Given the description of an element on the screen output the (x, y) to click on. 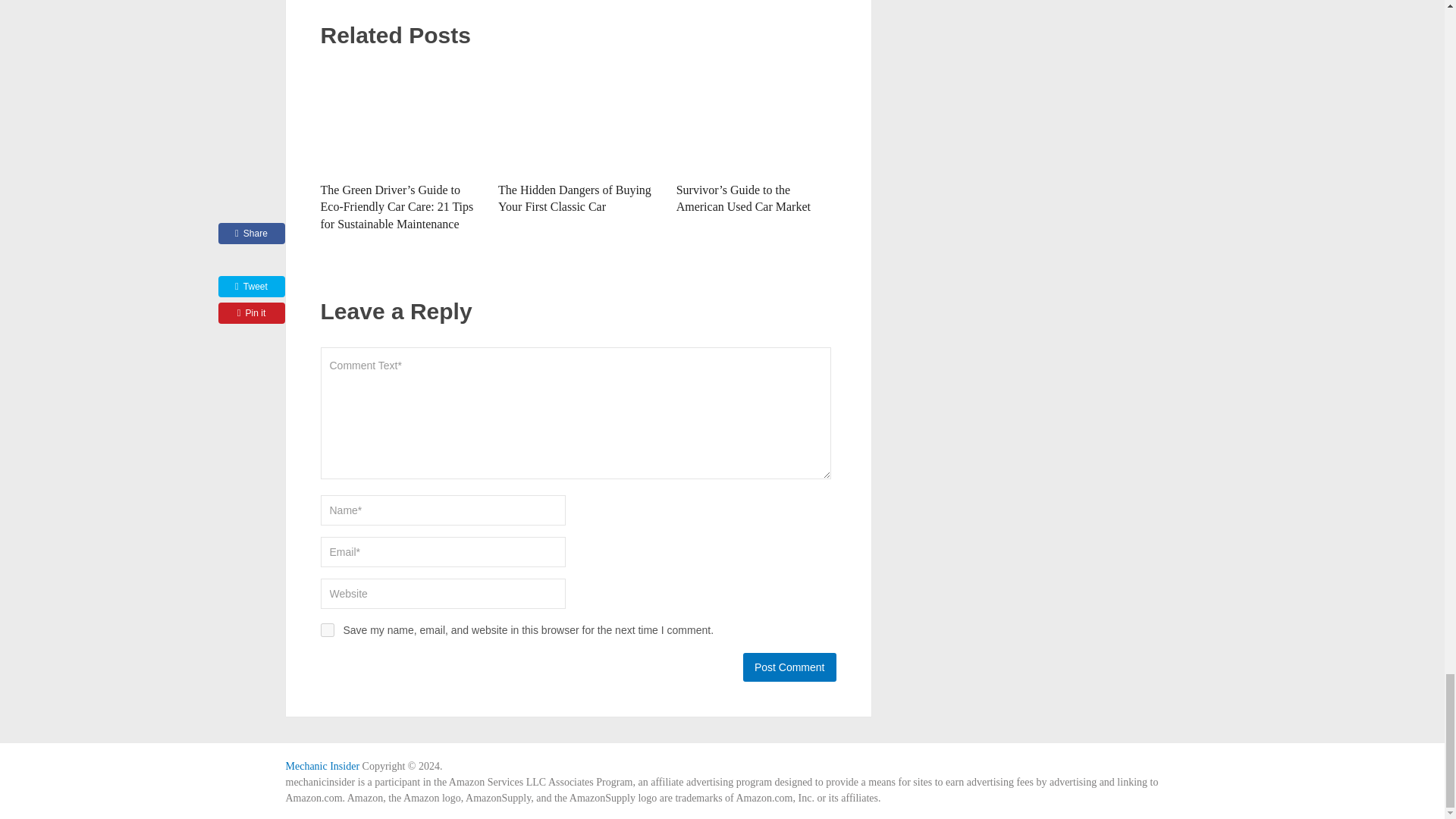
 Your Mechanic Solutions (322, 766)
The Hidden Dangers of Buying Your First Classic Car (573, 197)
Post Comment (788, 666)
yes (326, 630)
Mechanic Insider (322, 766)
Post Comment (788, 666)
The Hidden Dangers of Buying Your First Classic Car (577, 117)
The Hidden Dangers of Buying Your First Classic Car (573, 197)
